Given the description of an element on the screen output the (x, y) to click on. 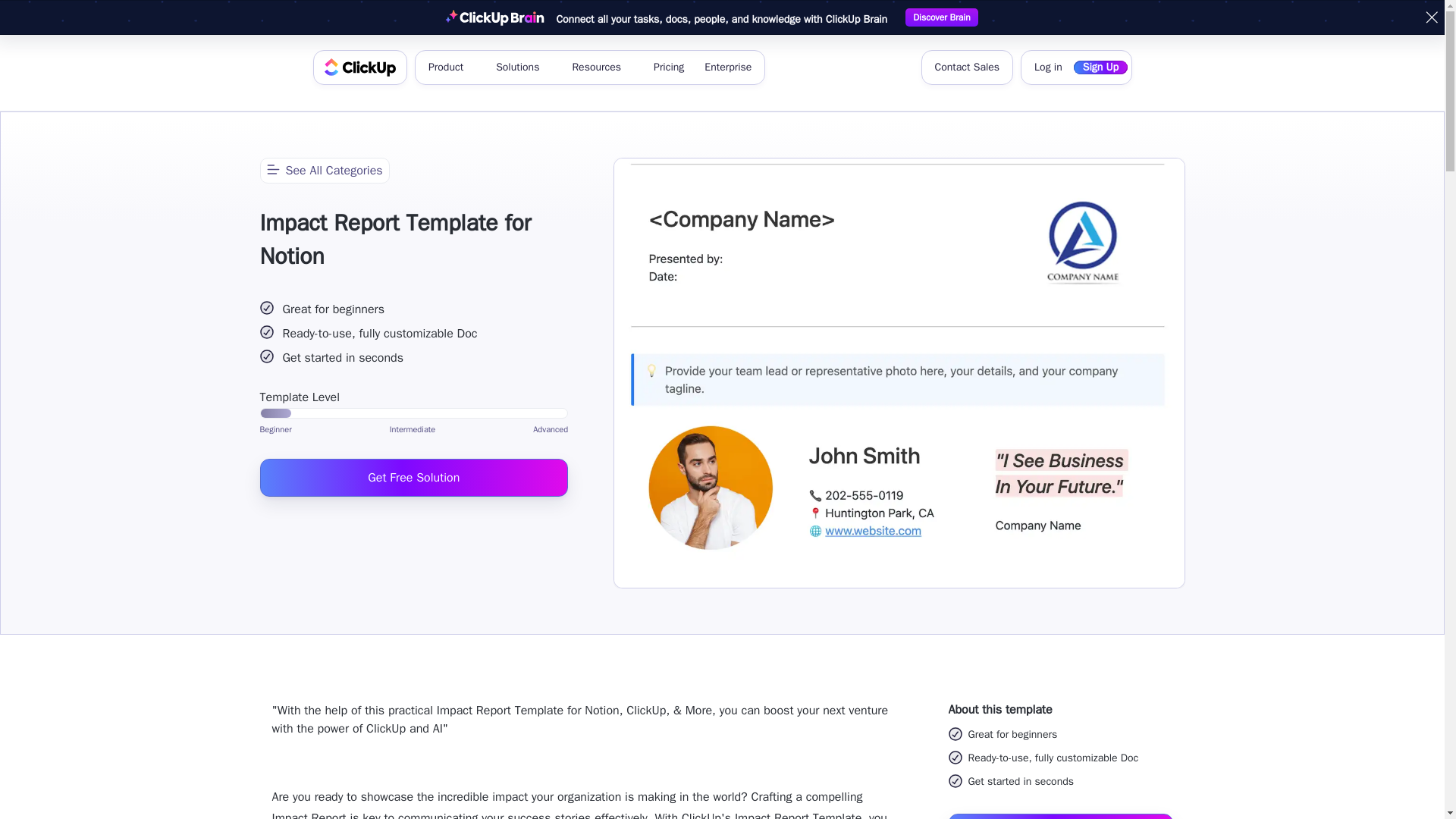
Get Free Solution (413, 476)
Close banner (1431, 17)
Sign Up (1099, 67)
Pricing (669, 67)
Enterprise (727, 67)
Discover Brain (940, 17)
See All Categories (323, 170)
Resources (602, 67)
Solutions (523, 67)
Log in (1048, 67)
Product (451, 67)
Contact Sales (966, 67)
